Given the description of an element on the screen output the (x, y) to click on. 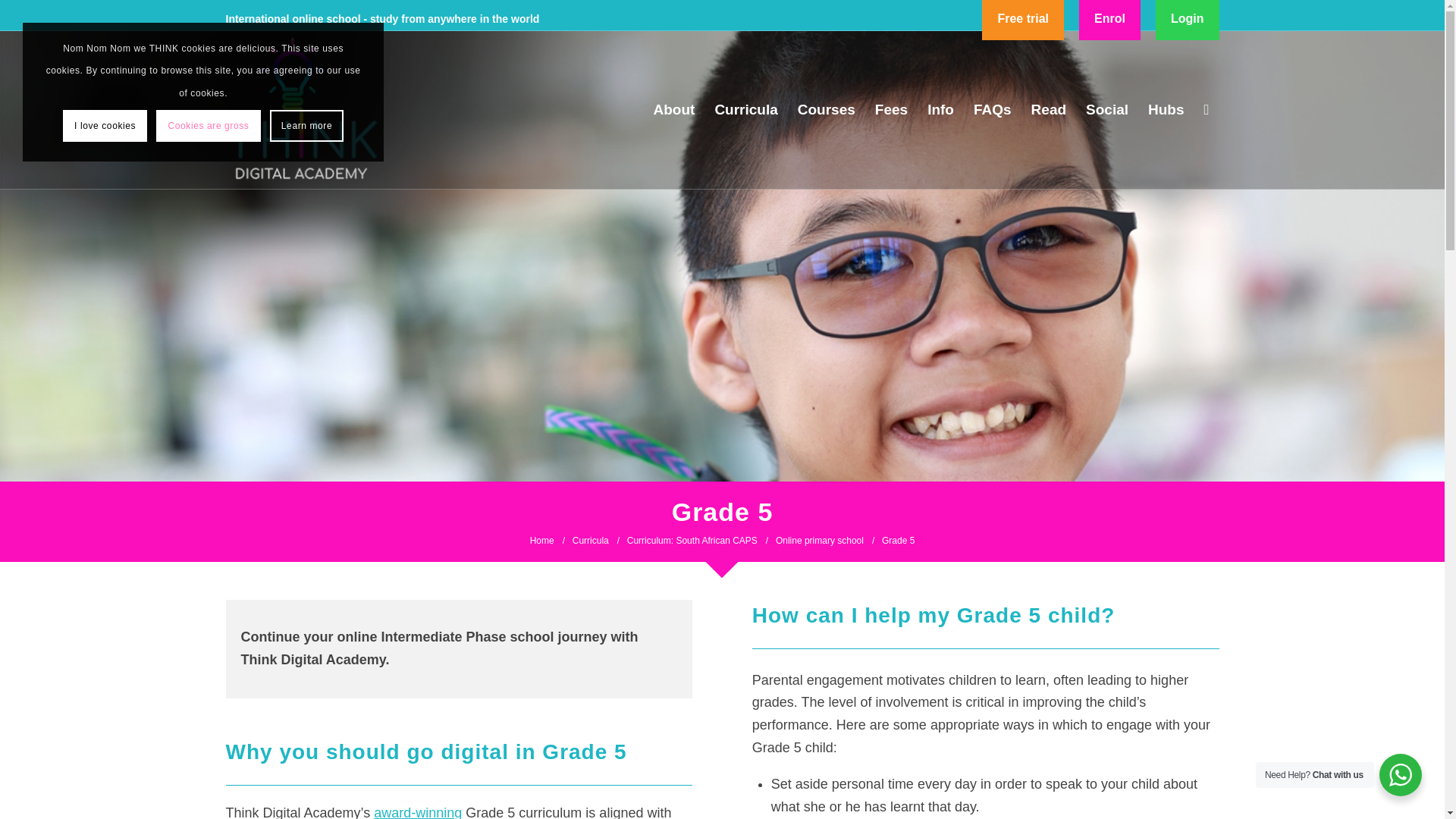
Free trial (1022, 20)
Curriculum: South African CAPS (692, 540)
Think Digital AcademyThink Digital Academy logo (306, 109)
Enrol (1109, 20)
Think Digital Academy (541, 540)
Online primary school (819, 540)
Login (1188, 20)
Think Digital Academy (306, 108)
Curricula (590, 540)
